Given the description of an element on the screen output the (x, y) to click on. 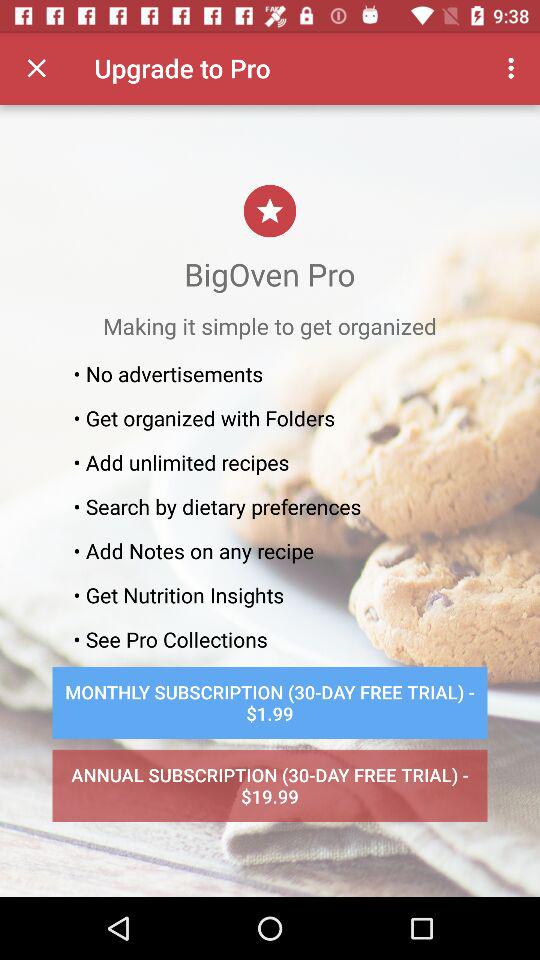
go back (36, 68)
